Given the description of an element on the screen output the (x, y) to click on. 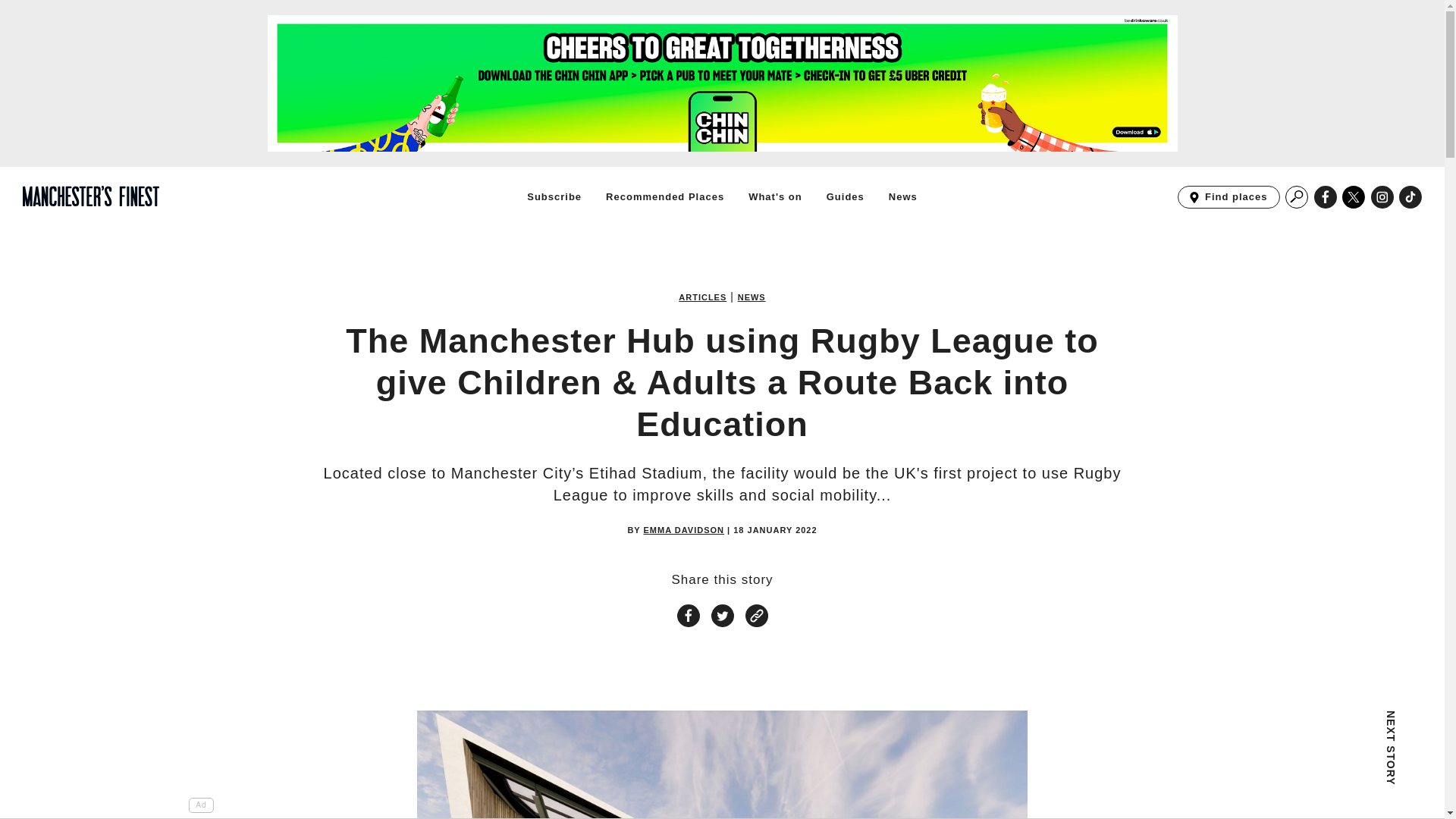
Go to Manchester's Finest TikTok profile (1410, 196)
Go to Manchester's Finest X profile (1353, 196)
Go to Manchester's Finest Facebook page (1325, 196)
NEXT STORY (1297, 764)
EMMA DAVIDSON (684, 530)
What's on (775, 196)
Recommended Places (664, 196)
Subscribe (553, 196)
ARTICLES (702, 297)
Go to Manchester's Finest X profile (1353, 196)
Go to Manchester's Finest Instagram profile (1228, 196)
News (1382, 196)
Go to Manchester's Finest TikTok profile (902, 196)
Guides (1410, 196)
